Given the description of an element on the screen output the (x, y) to click on. 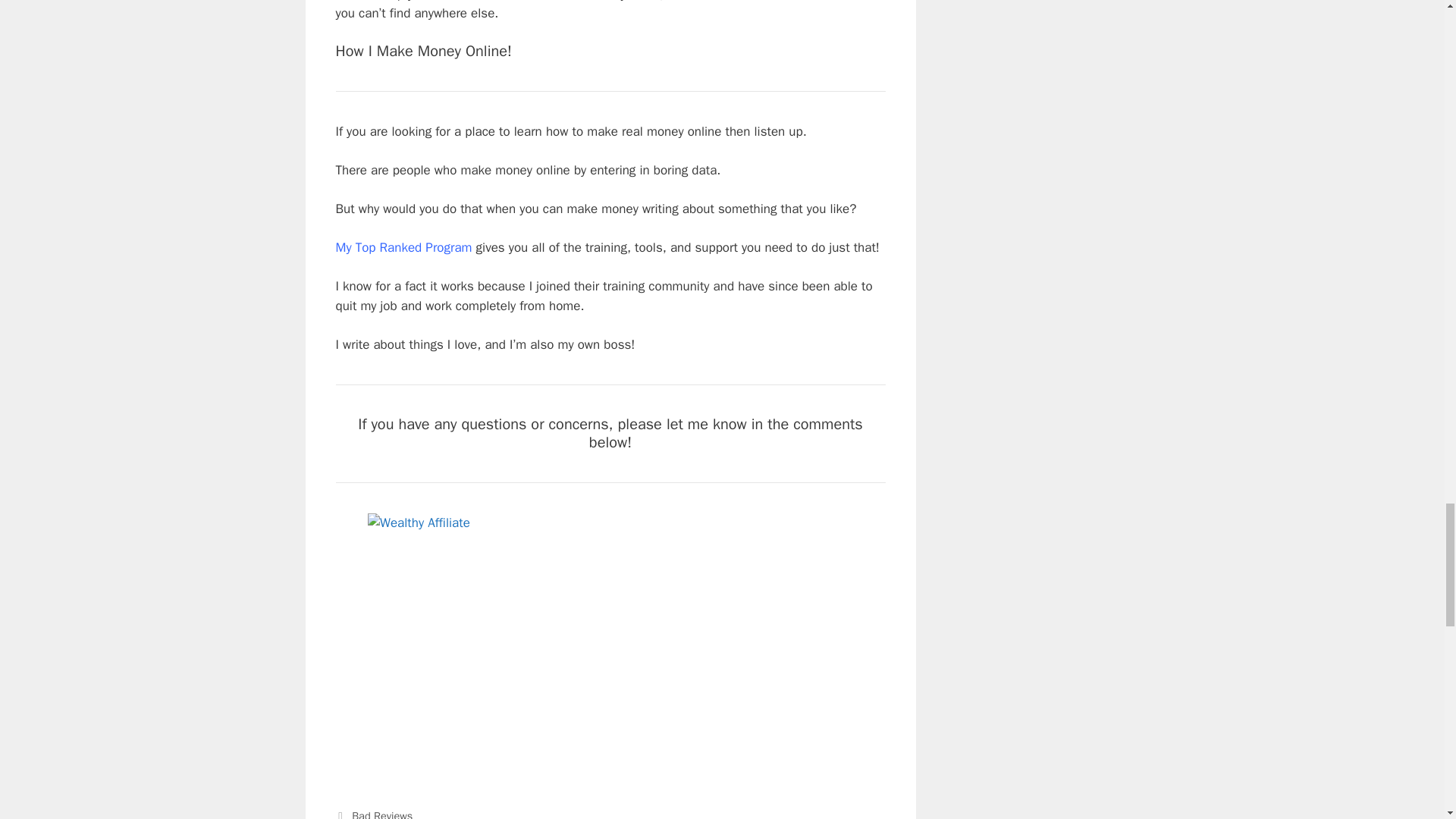
Bad Reviews (382, 814)
My Top Ranked Program (402, 247)
